Given the description of an element on the screen output the (x, y) to click on. 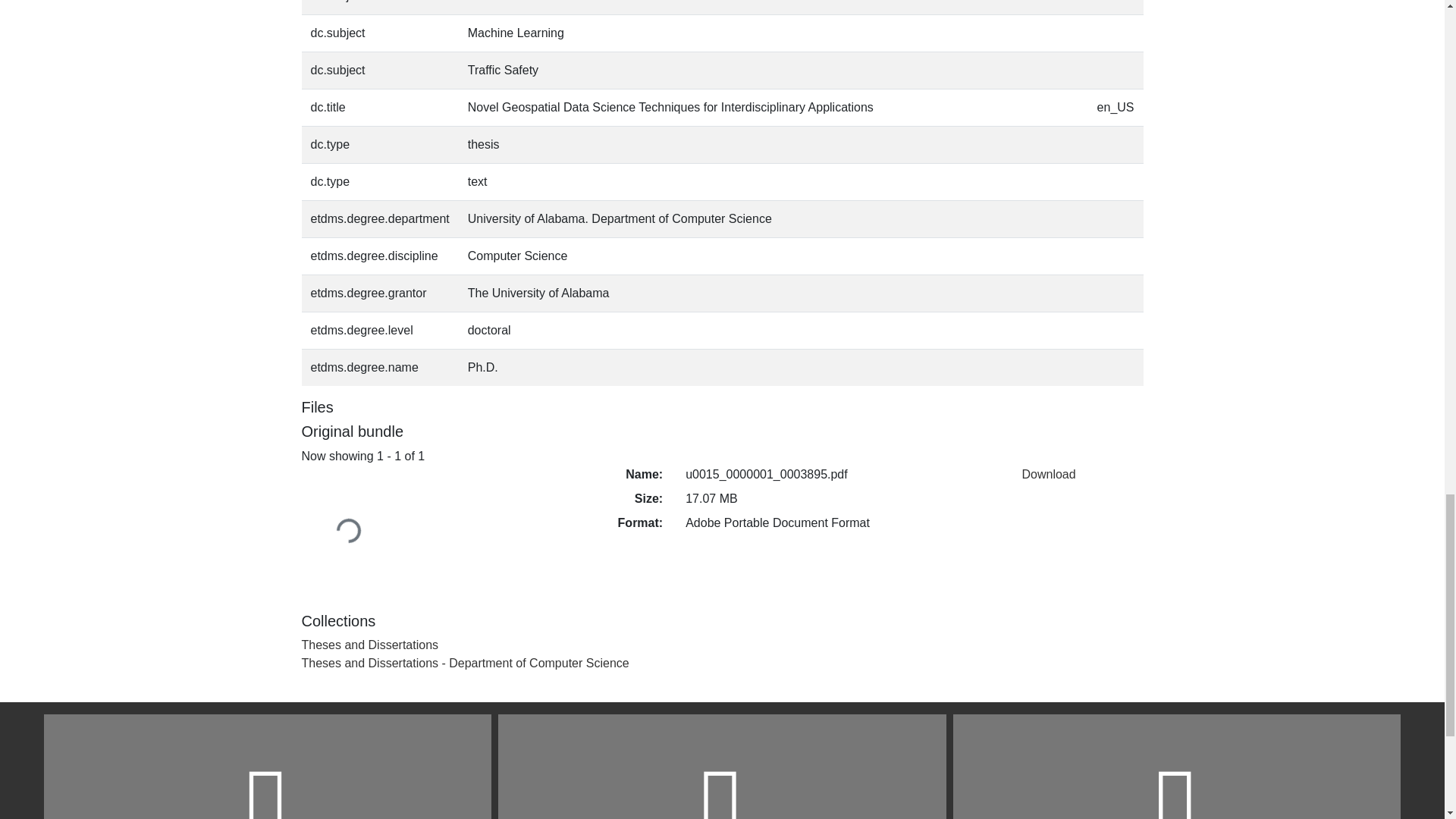
Theses and Dissertations (370, 644)
Theses and Dissertations - Department of Computer Science (464, 662)
Download (1048, 473)
